Given the description of an element on the screen output the (x, y) to click on. 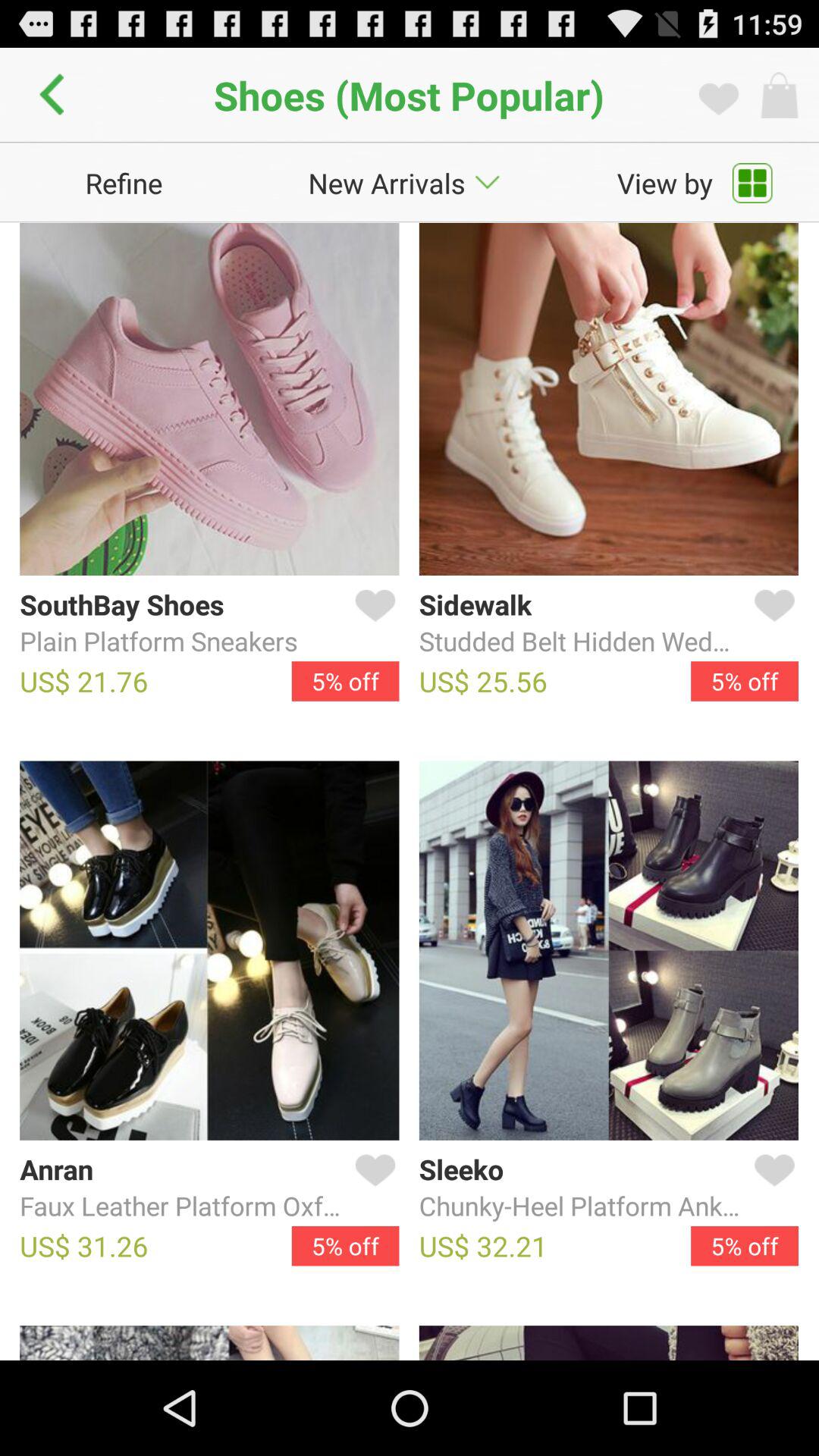
go to previous (56, 94)
